Given the description of an element on the screen output the (x, y) to click on. 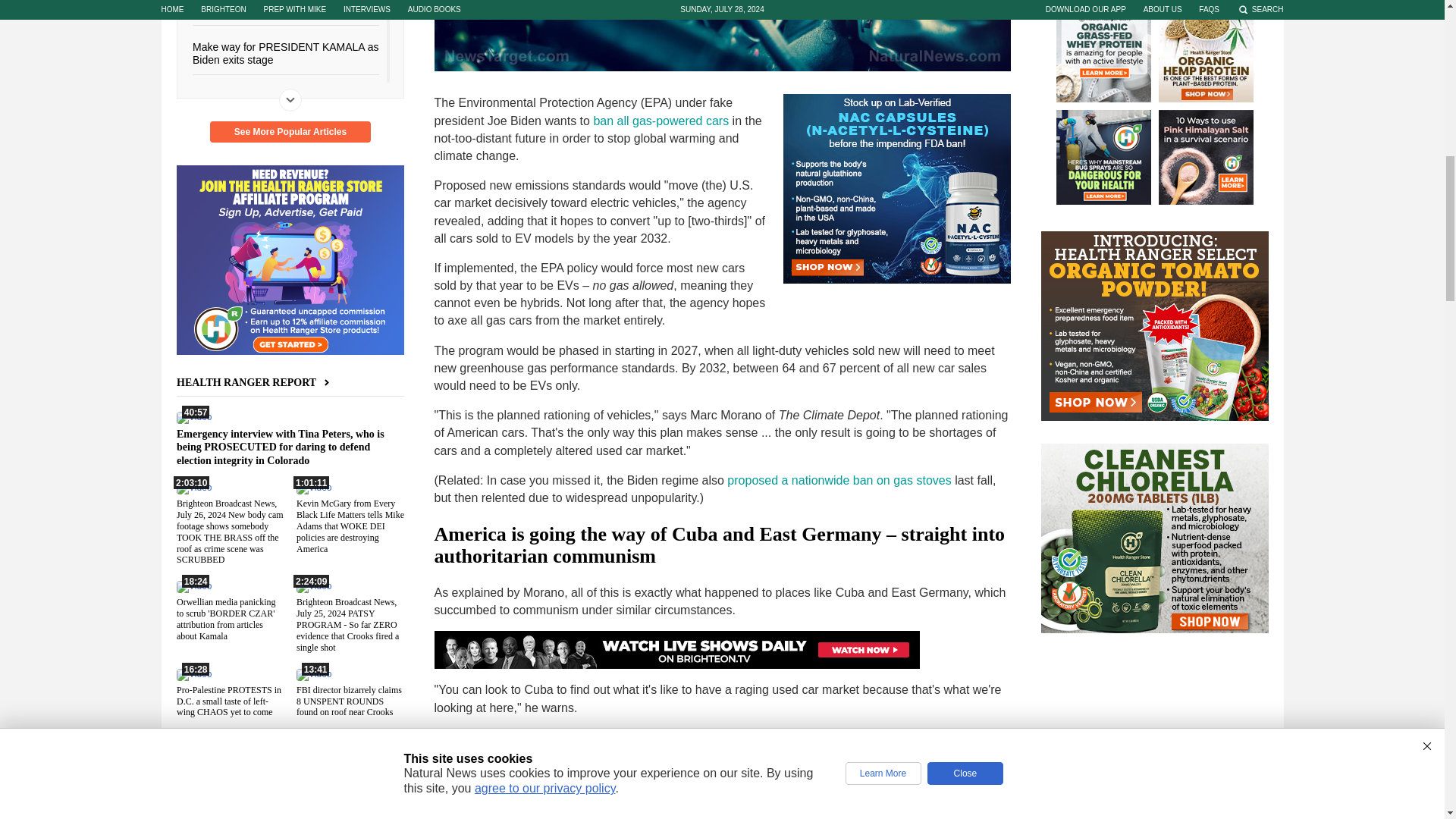
Scroll Down (290, 99)
